Given the description of an element on the screen output the (x, y) to click on. 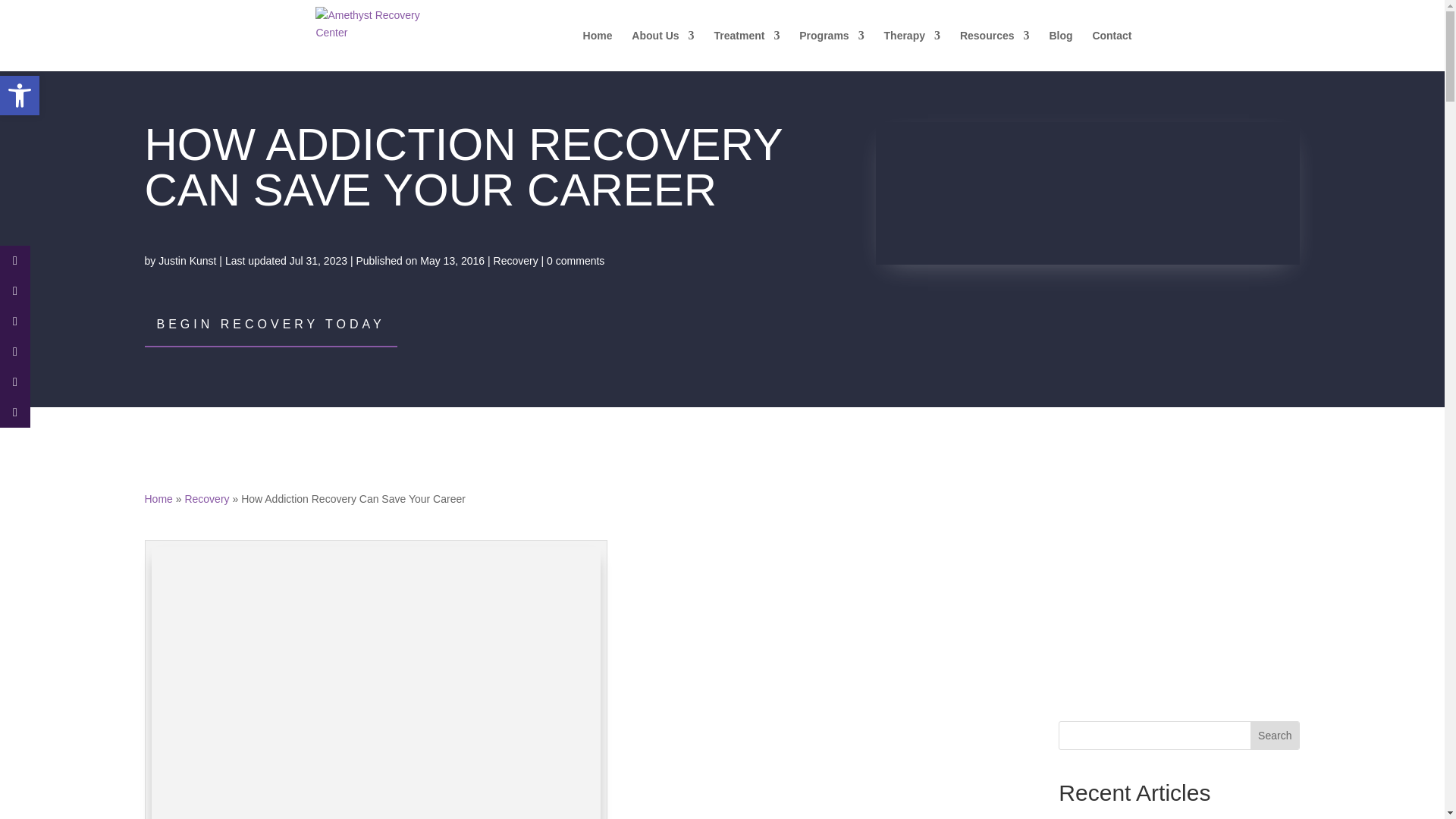
Accessibility Tools (19, 95)
Search (1274, 735)
cta (1179, 568)
Posts by Justin Kunst (186, 260)
Treatment (745, 50)
Resources (994, 50)
About Us (662, 50)
Career banner (1088, 193)
Therapy (911, 50)
Justin Kunst (186, 260)
Contact (1111, 50)
Search (1274, 735)
Programs (831, 50)
Accessibility Tools (19, 95)
